Given the description of an element on the screen output the (x, y) to click on. 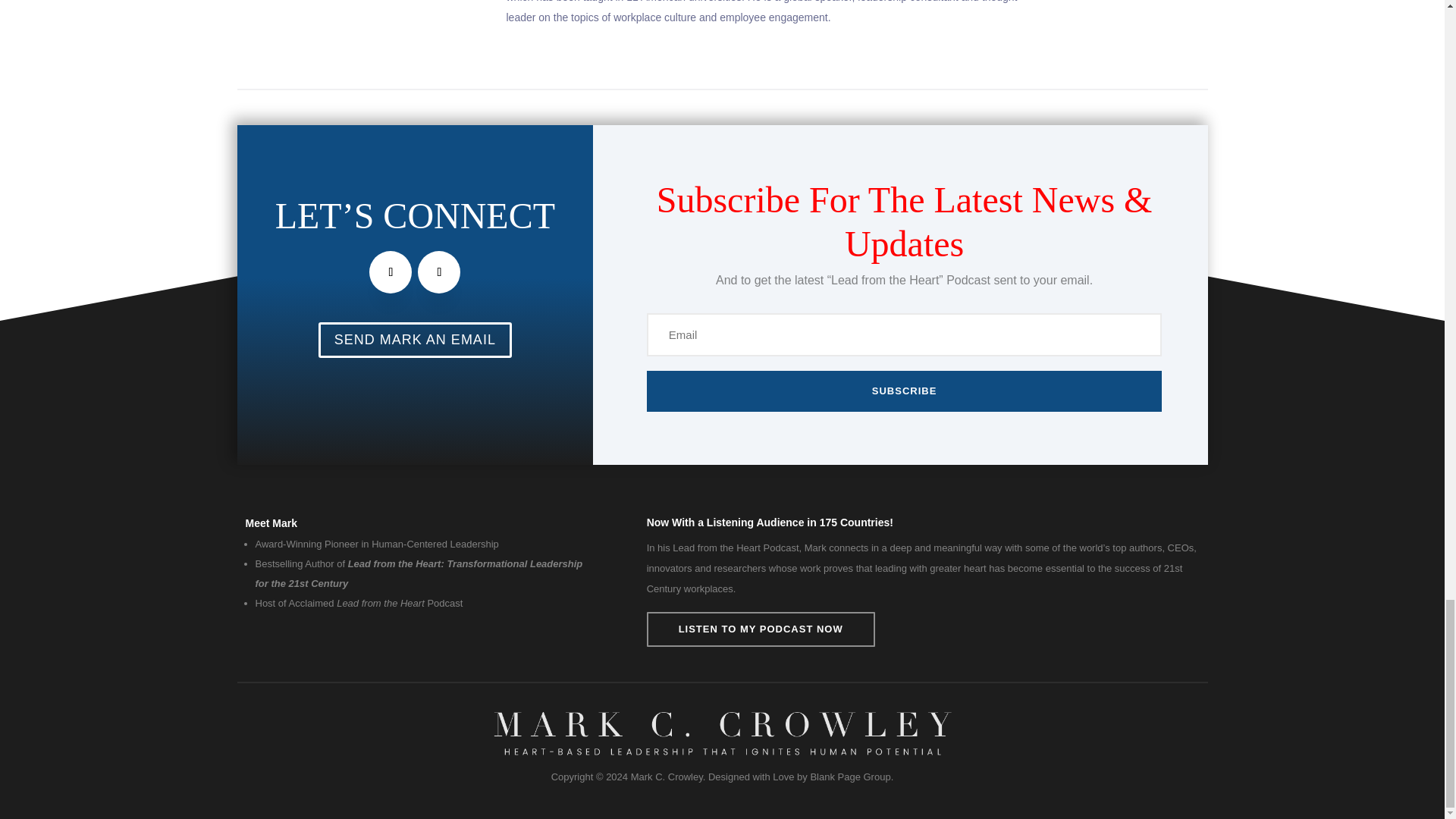
Follow on Twitter (390, 271)
Follow on LinkedIn (438, 271)
SEND MARK AN EMAIL (415, 339)
